Given the description of an element on the screen output the (x, y) to click on. 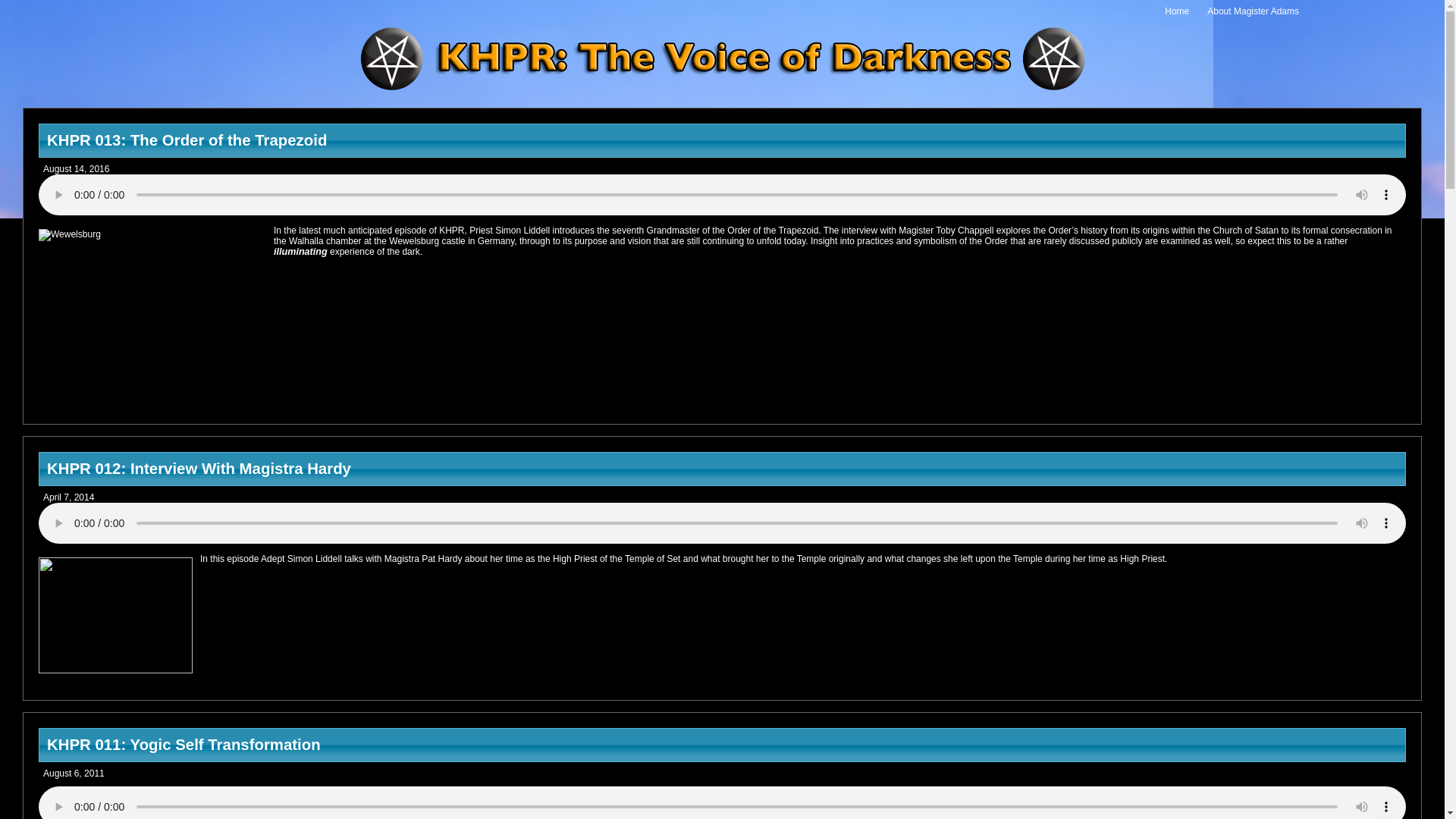
KHPR 011: Yogic Self Transformation (722, 744)
KHPR: The Voice of Darkness (721, 91)
Home (1177, 11)
KHPR 012: Interview With Magistra Hardy (722, 468)
About Magister Adams (1252, 11)
KHPR 013: The Order of the Trapezoid (722, 140)
KHPR: The Voice of Darkness (721, 58)
